Given the description of an element on the screen output the (x, y) to click on. 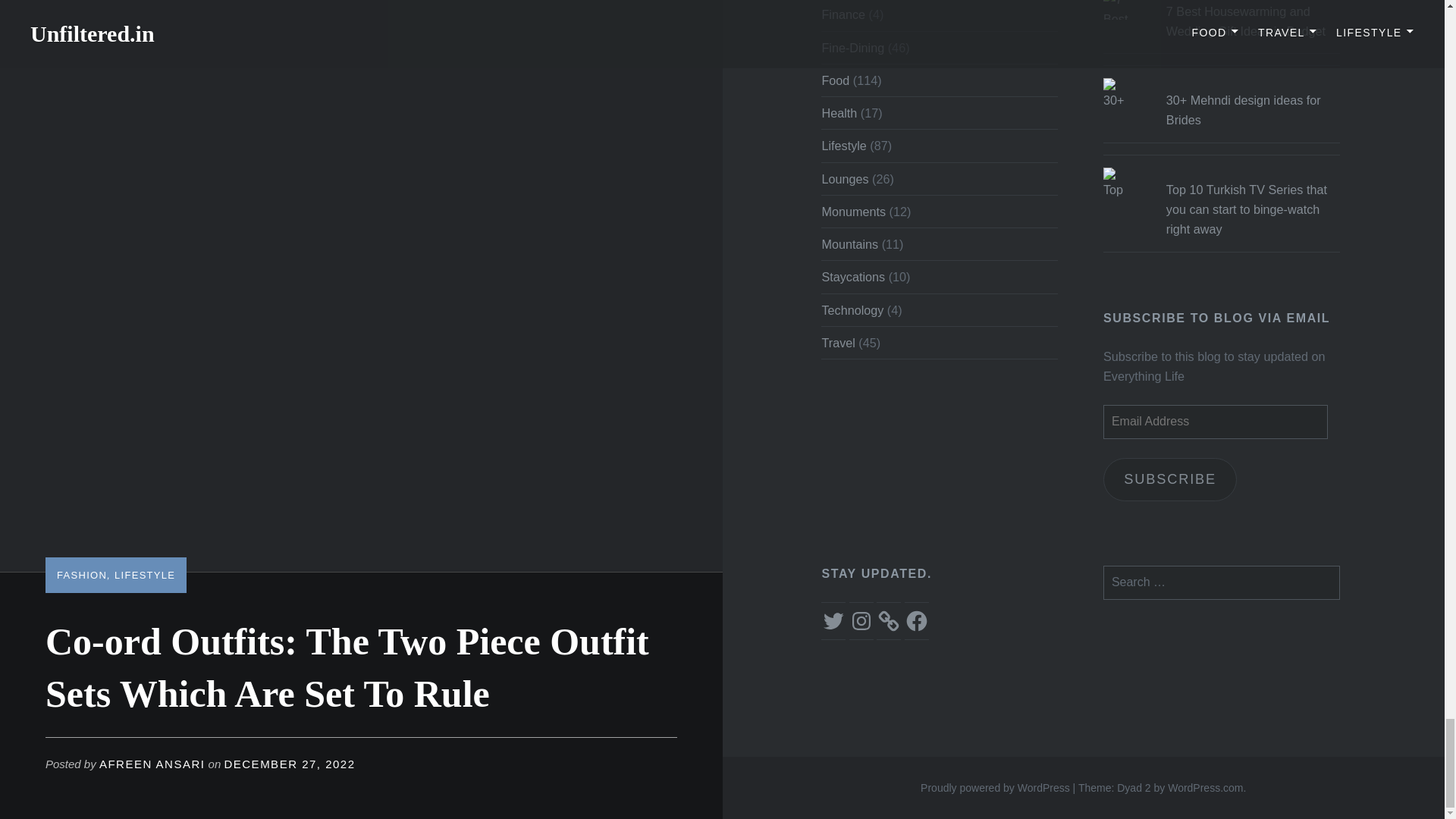
7 Best Housewarming and Wedding Gift Ideas in Budget (1252, 23)
